Given the description of an element on the screen output the (x, y) to click on. 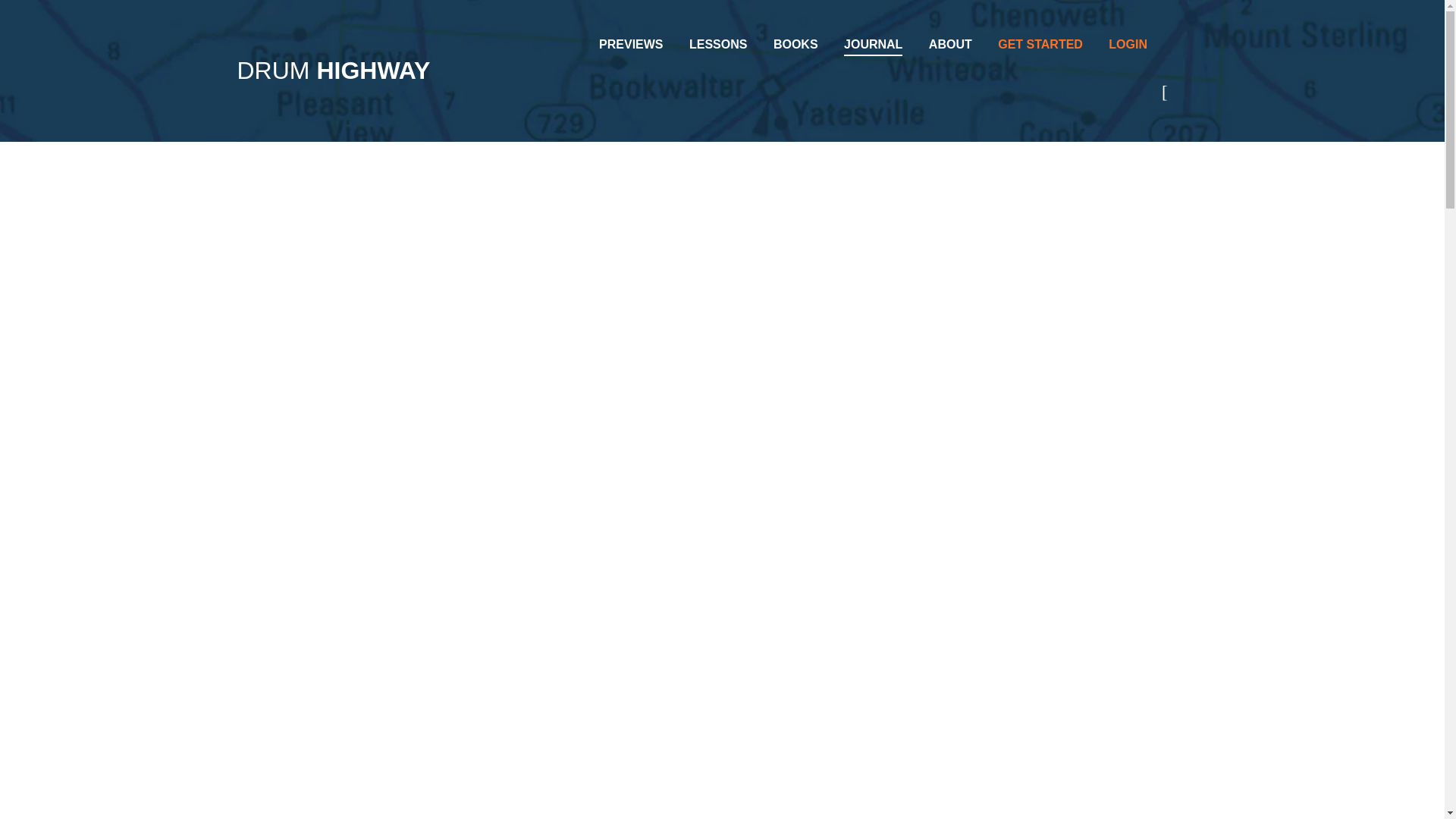
BOOKS (795, 44)
PREVIEWS (630, 44)
JOURNAL (873, 45)
DRUM HIGHWAY (332, 70)
ABOUT (950, 44)
LOGIN (1127, 44)
GET STARTED (1040, 44)
LESSONS (717, 44)
